Given the description of an element on the screen output the (x, y) to click on. 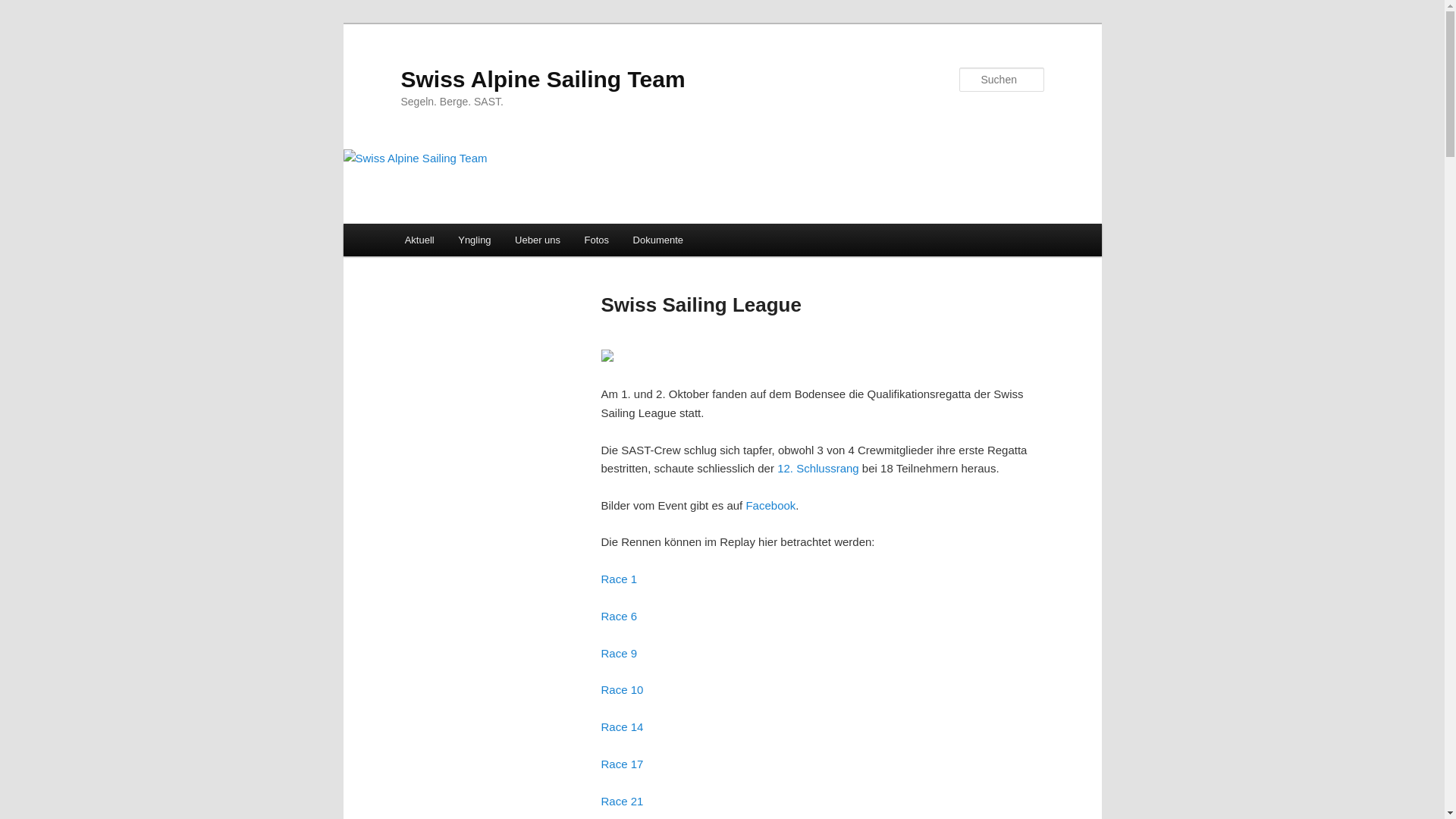
Race 17 Element type: text (621, 763)
Race 14 Element type: text (621, 726)
Aktuell Element type: text (419, 239)
Race 6 Element type: text (618, 615)
Zum Inhalt wechseln Element type: text (22, 22)
Dokumente Element type: text (658, 239)
12. Schlussrang Element type: text (818, 467)
Race 9 Element type: text (618, 652)
Ueber uns Element type: text (536, 239)
Swiss Alpine Sailing Team Element type: text (542, 78)
Yngling Element type: text (473, 239)
Race 1 Element type: text (618, 578)
Race 21 Element type: text (621, 800)
Race 10 Element type: text (621, 689)
Suchen Element type: text (25, 8)
Fotos Element type: text (596, 239)
Facebook Element type: text (770, 504)
